Given the description of an element on the screen output the (x, y) to click on. 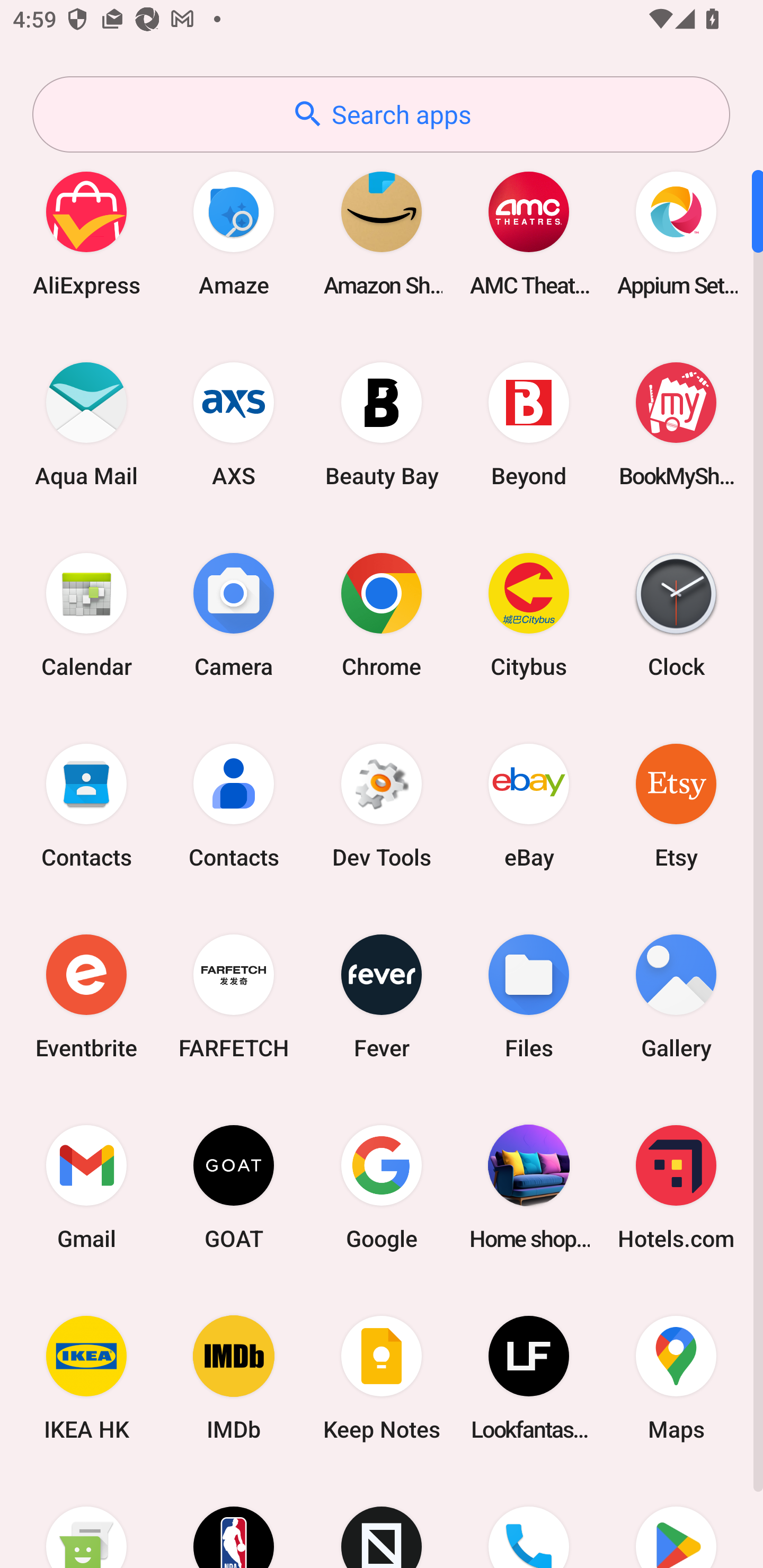
  Search apps (381, 114)
AliExpress (86, 233)
Amaze (233, 233)
Amazon Shopping (381, 233)
AMC Theatres (528, 233)
Appium Settings (676, 233)
Aqua Mail (86, 424)
AXS (233, 424)
Beauty Bay (381, 424)
Beyond (528, 424)
BookMyShow (676, 424)
Calendar (86, 614)
Camera (233, 614)
Chrome (381, 614)
Citybus (528, 614)
Clock (676, 614)
Contacts (86, 805)
Contacts (233, 805)
Dev Tools (381, 805)
eBay (528, 805)
Etsy (676, 805)
Eventbrite (86, 996)
FARFETCH (233, 996)
Fever (381, 996)
Files (528, 996)
Gallery (676, 996)
Gmail (86, 1186)
GOAT (233, 1186)
Google (381, 1186)
Home shopping (528, 1186)
Hotels.com (676, 1186)
IKEA HK (86, 1377)
IMDb (233, 1377)
Keep Notes (381, 1377)
Lookfantastic (528, 1377)
Maps (676, 1377)
Messaging (86, 1520)
NBA (233, 1520)
Novelship (381, 1520)
Phone (528, 1520)
Play Store (676, 1520)
